Given the description of an element on the screen output the (x, y) to click on. 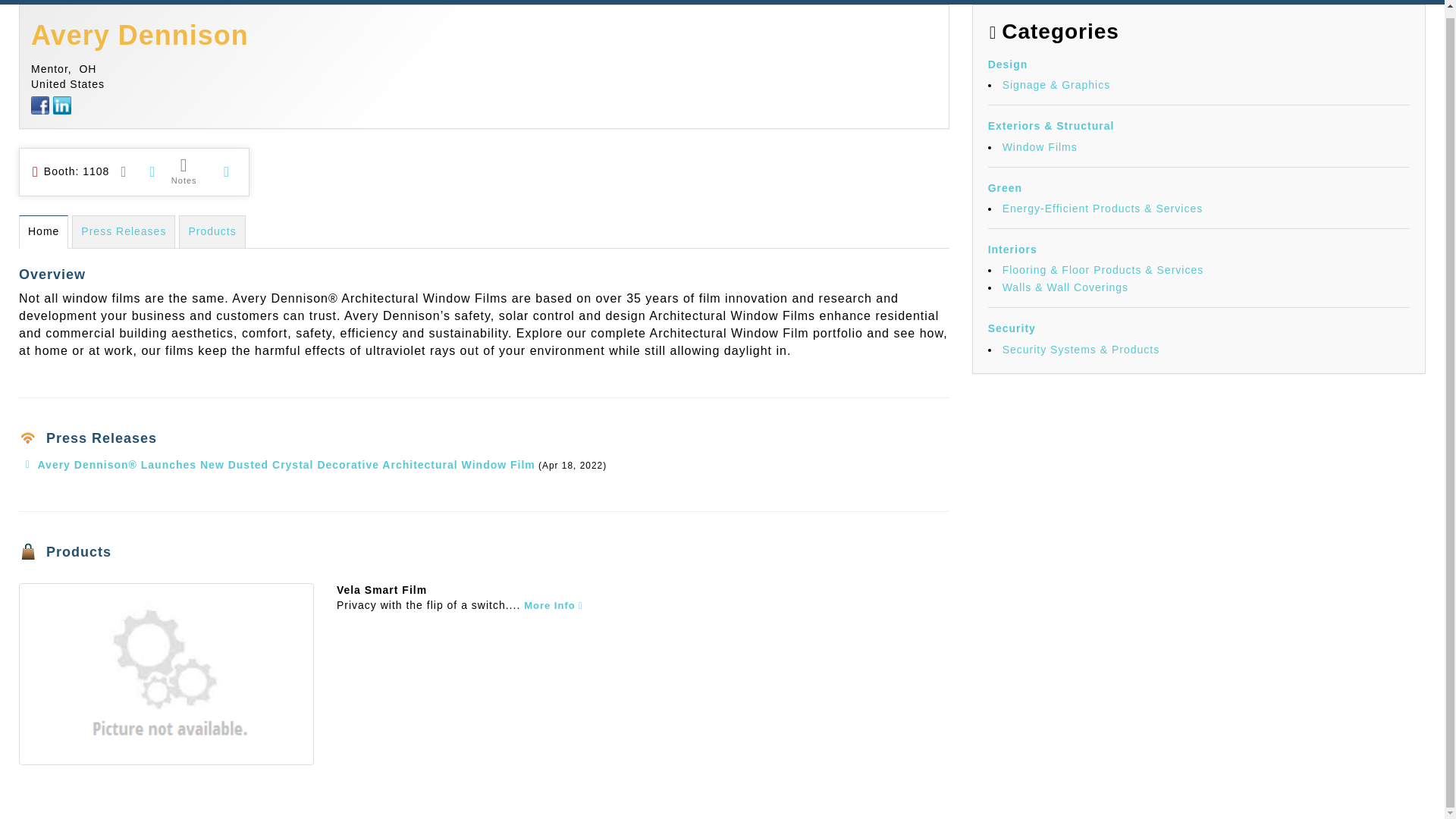
Print (152, 171)
Home (43, 231)
Window Films (1040, 146)
Products (211, 231)
Press Releases (122, 231)
Log in to add notes (183, 171)
Request Appointment (123, 171)
Security (1011, 328)
Design (1007, 64)
Add To My Exhibitors (225, 172)
More Info (553, 604)
Green (1005, 187)
Interiors (1012, 249)
